Given the description of an element on the screen output the (x, y) to click on. 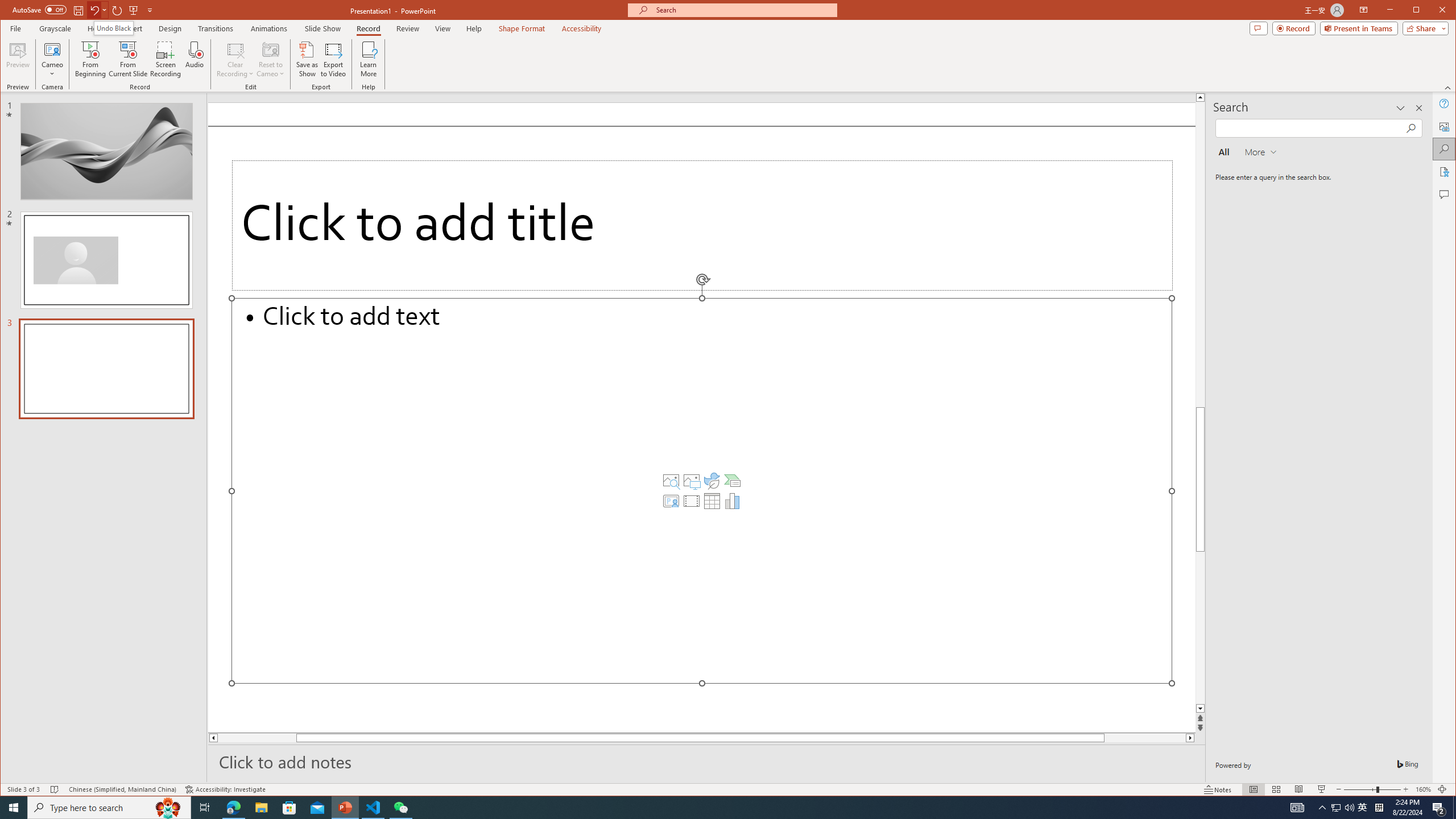
User Promoted Notification Area (1342, 807)
Screen Recording (165, 59)
